Given the description of an element on the screen output the (x, y) to click on. 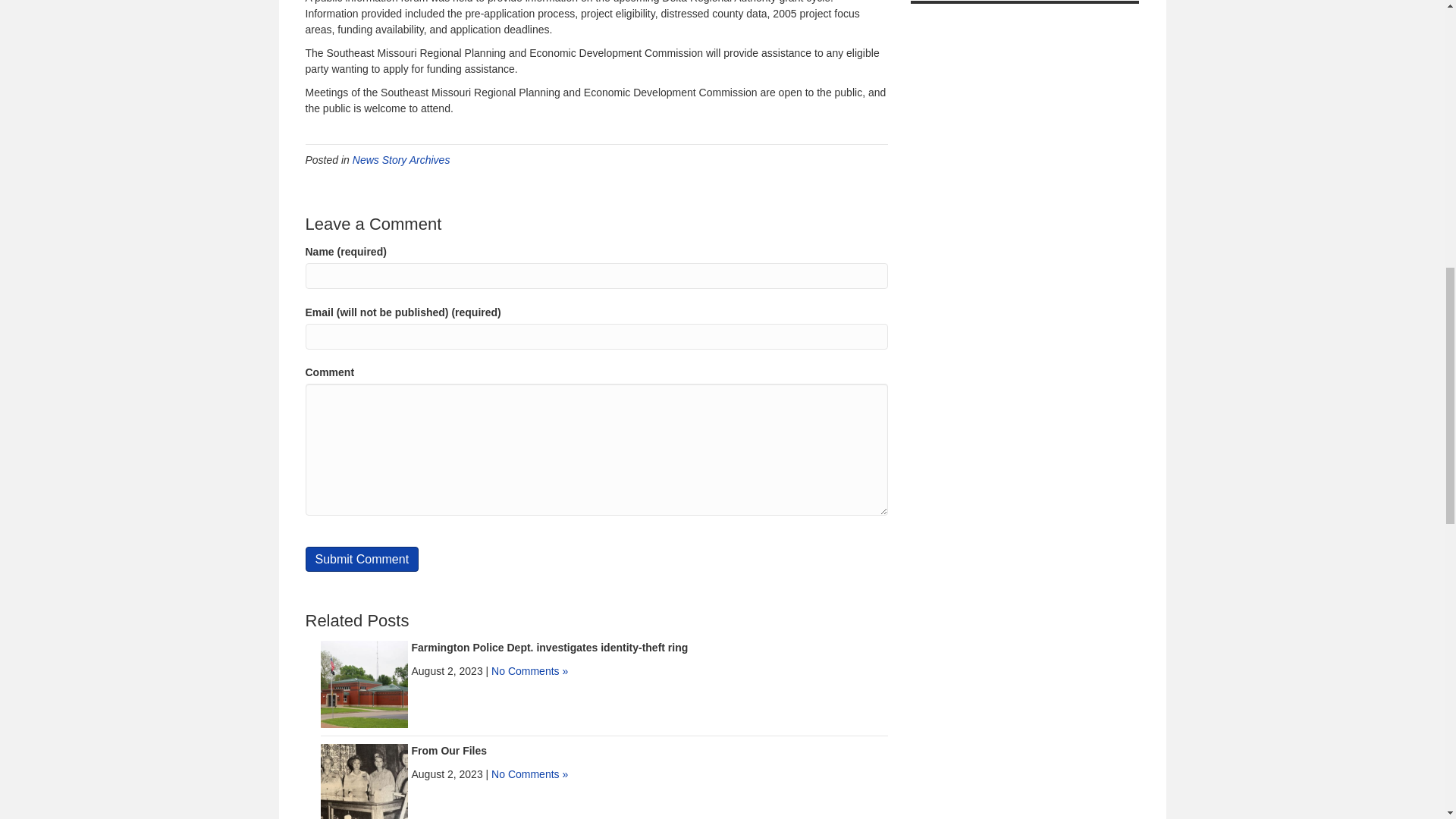
From Our Files (363, 786)
From Our Files (448, 750)
Farmington Police Dept. investigates identity-theft ring (363, 683)
Farmington Police Dept. investigates identity-theft ring (548, 647)
Submit Comment (361, 559)
